Given the description of an element on the screen output the (x, y) to click on. 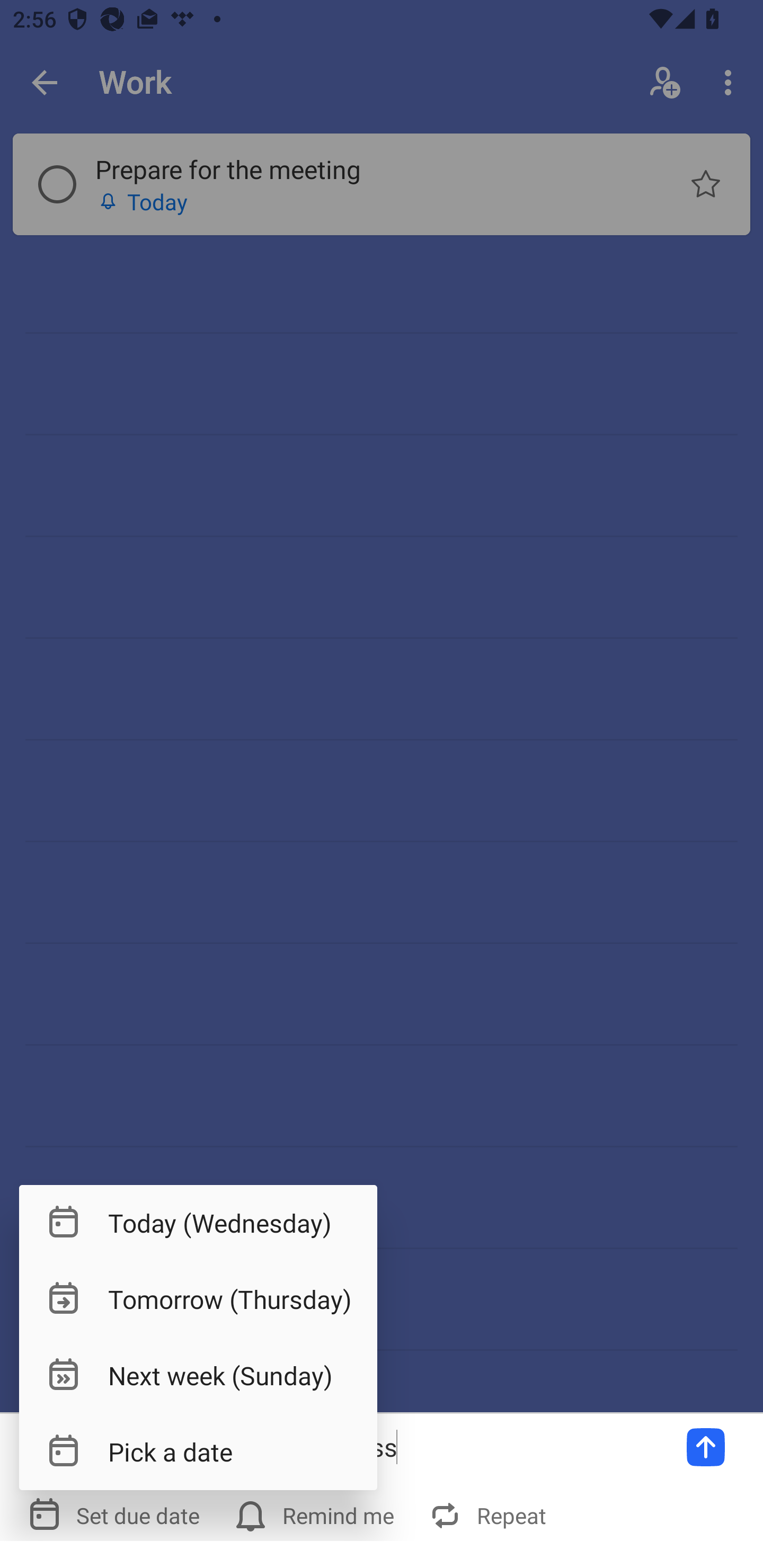
Tomorrow (Thursday)2 in 4 Tomorrow (Thursday) (197, 1298)
